Given the description of an element on the screen output the (x, y) to click on. 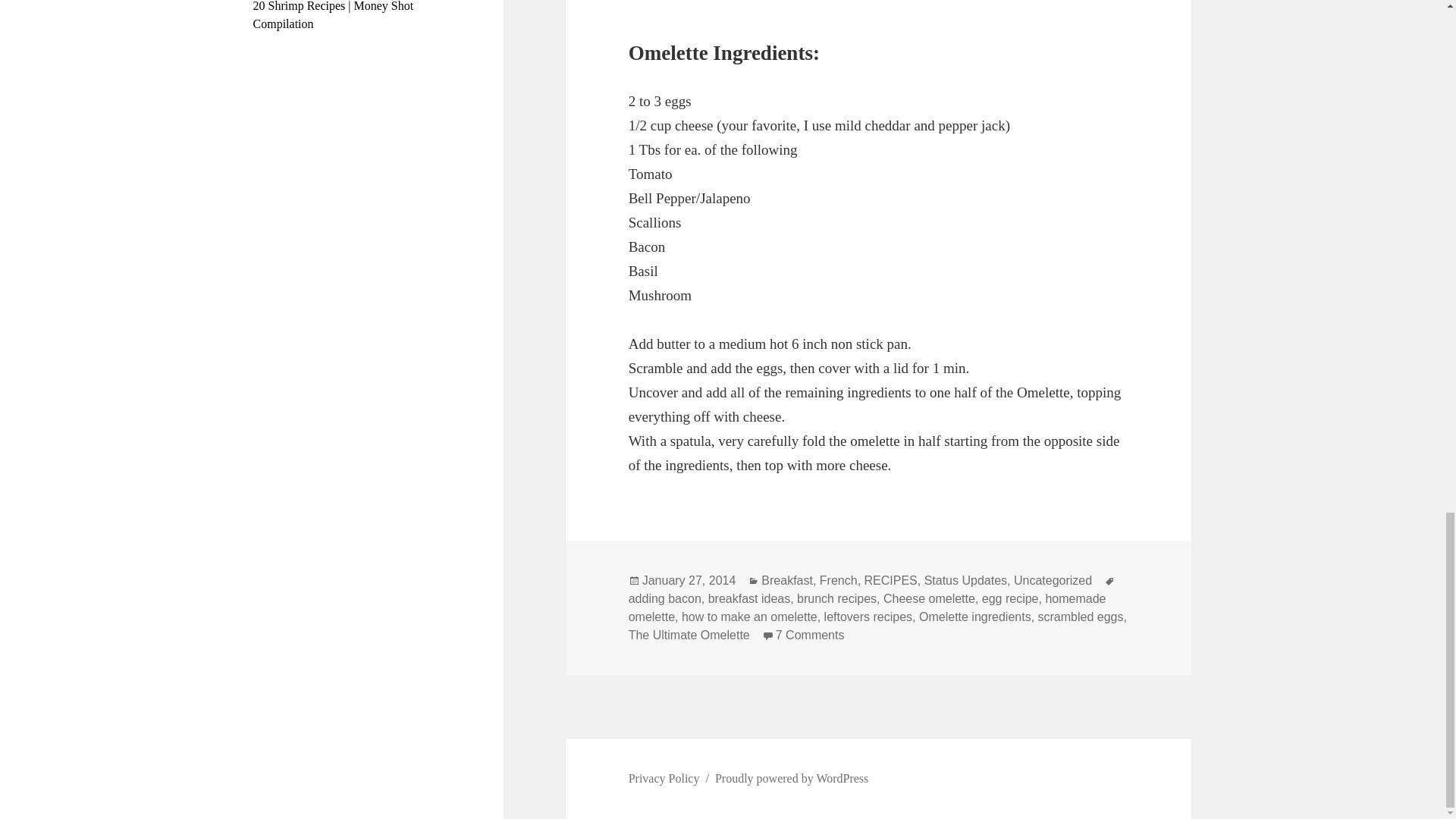
Status Updates (965, 581)
Breakfast (786, 581)
Uncategorized (1052, 581)
breakfast ideas (748, 599)
The Ultimate Omelette (688, 635)
adding bacon (664, 599)
scrambled eggs (1081, 617)
how to make an omelette (748, 617)
French (838, 581)
egg recipe (1010, 599)
leftovers recipes (868, 617)
Privacy Policy (664, 778)
Omelette ingredients (810, 635)
brunch recipes (974, 617)
